Given the description of an element on the screen output the (x, y) to click on. 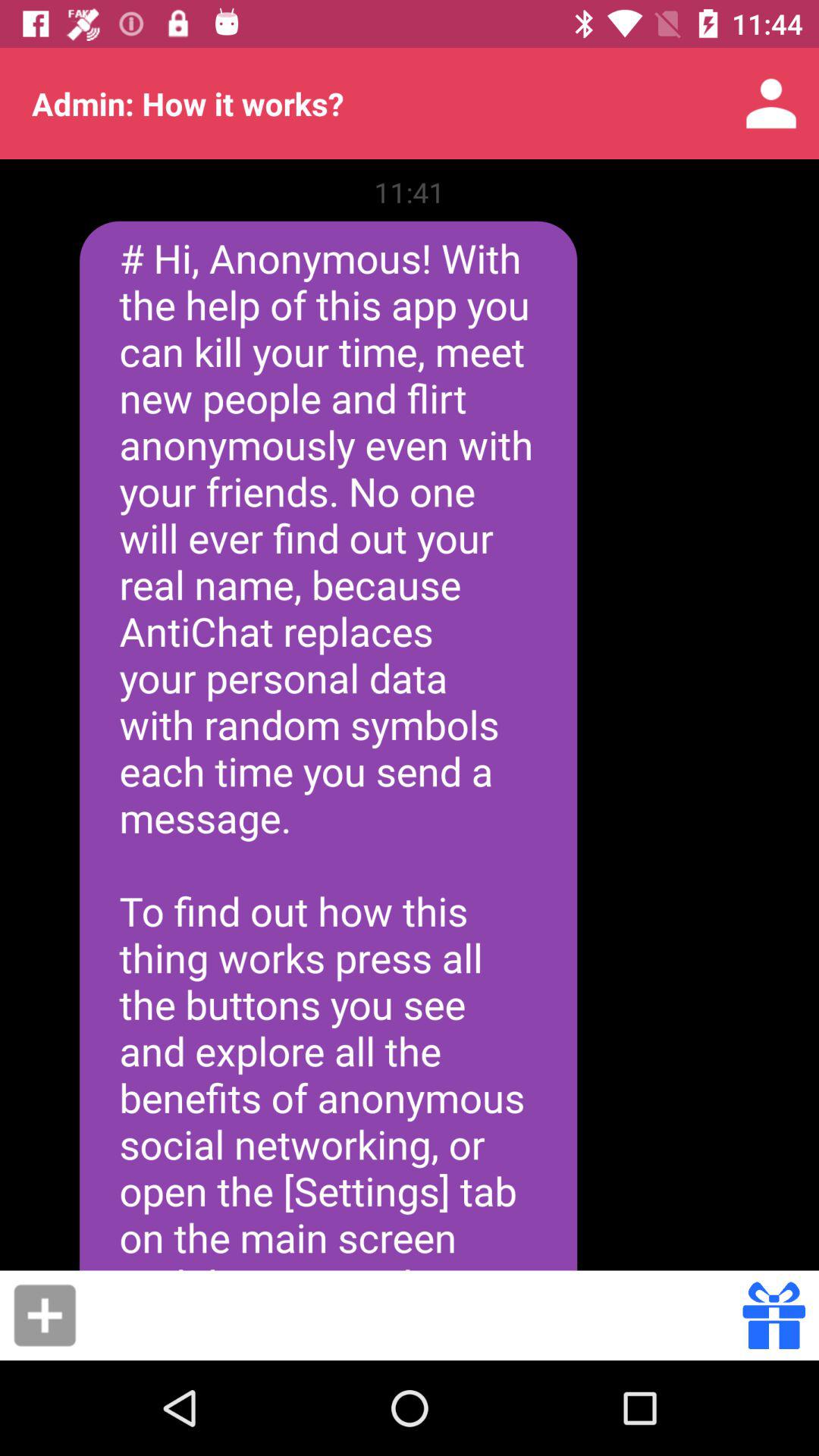
open hi anonymous with at the center (328, 745)
